Given the description of an element on the screen output the (x, y) to click on. 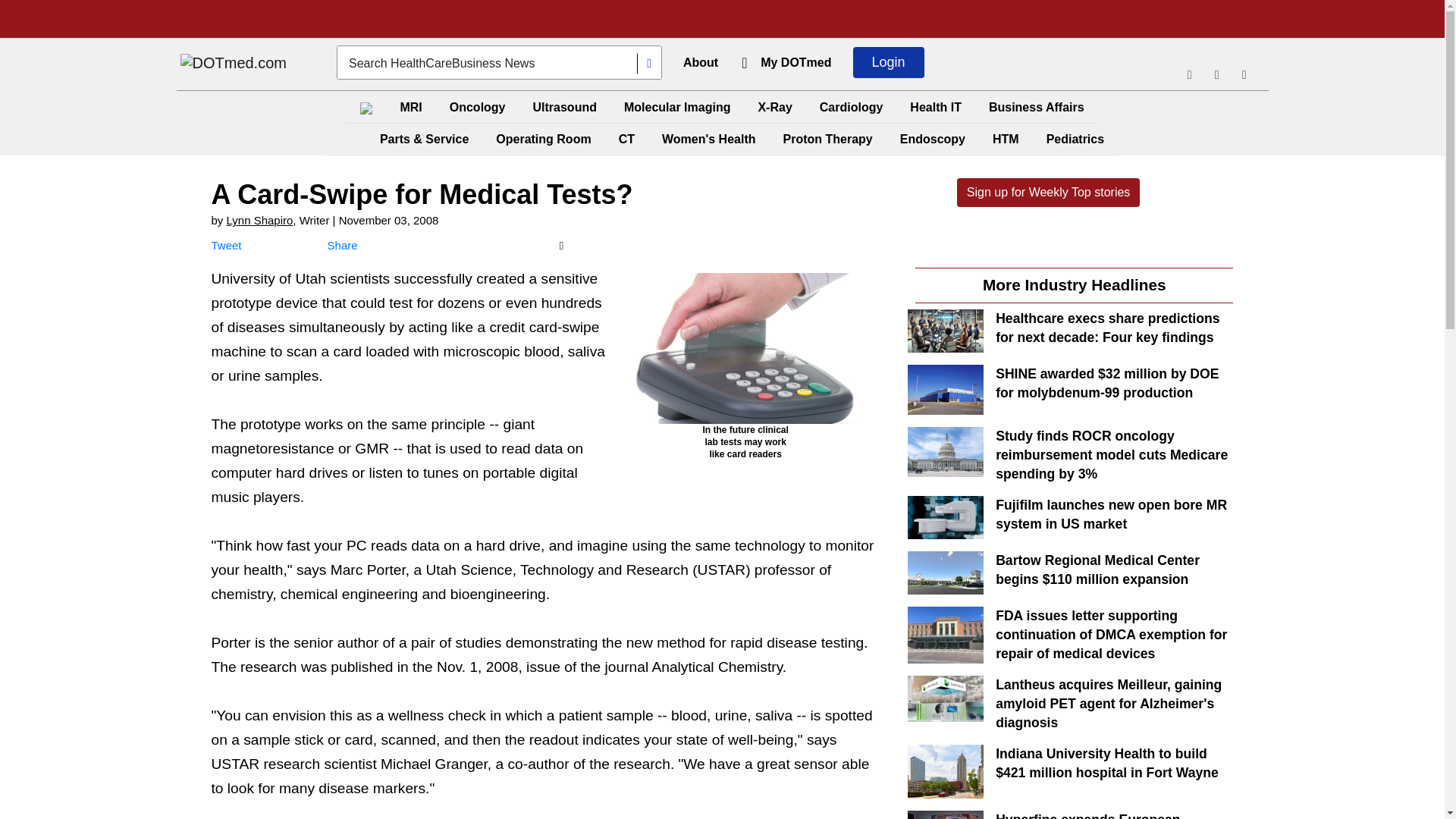
My DOTmed (795, 61)
Ultrasound (564, 106)
Proton Therapy (826, 138)
MRI (410, 106)
X-Ray (774, 106)
More news from Lynn Shapiro (260, 219)
Endoscopy (932, 138)
CT (626, 138)
Health IT (936, 106)
Business Affairs (1036, 106)
About (700, 61)
Operating Room (542, 138)
HTM (1006, 138)
DOTmed News (233, 63)
Cardiology (851, 106)
